Given the description of an element on the screen output the (x, y) to click on. 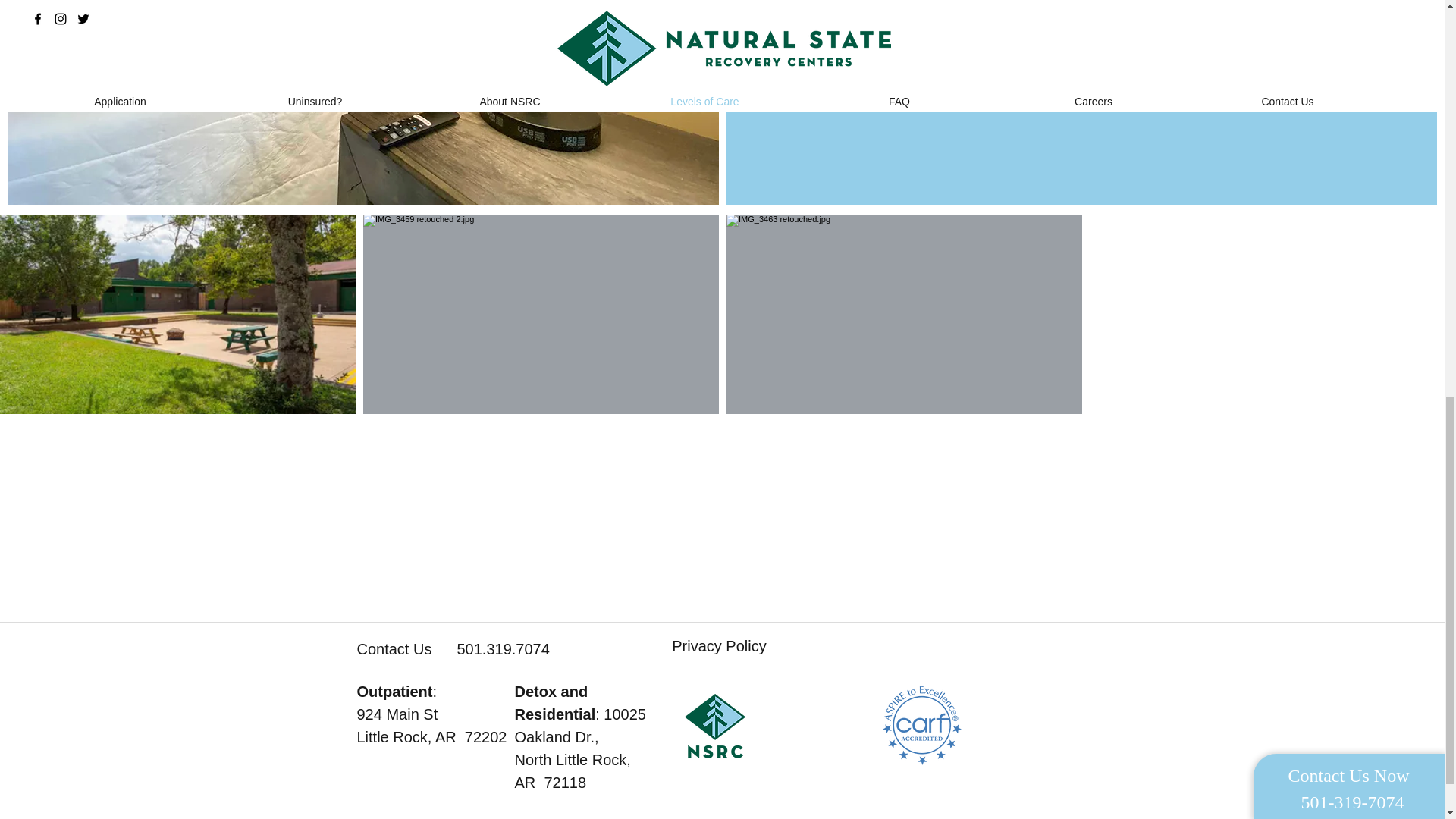
Privacy Policy (718, 645)
